Given the description of an element on the screen output the (x, y) to click on. 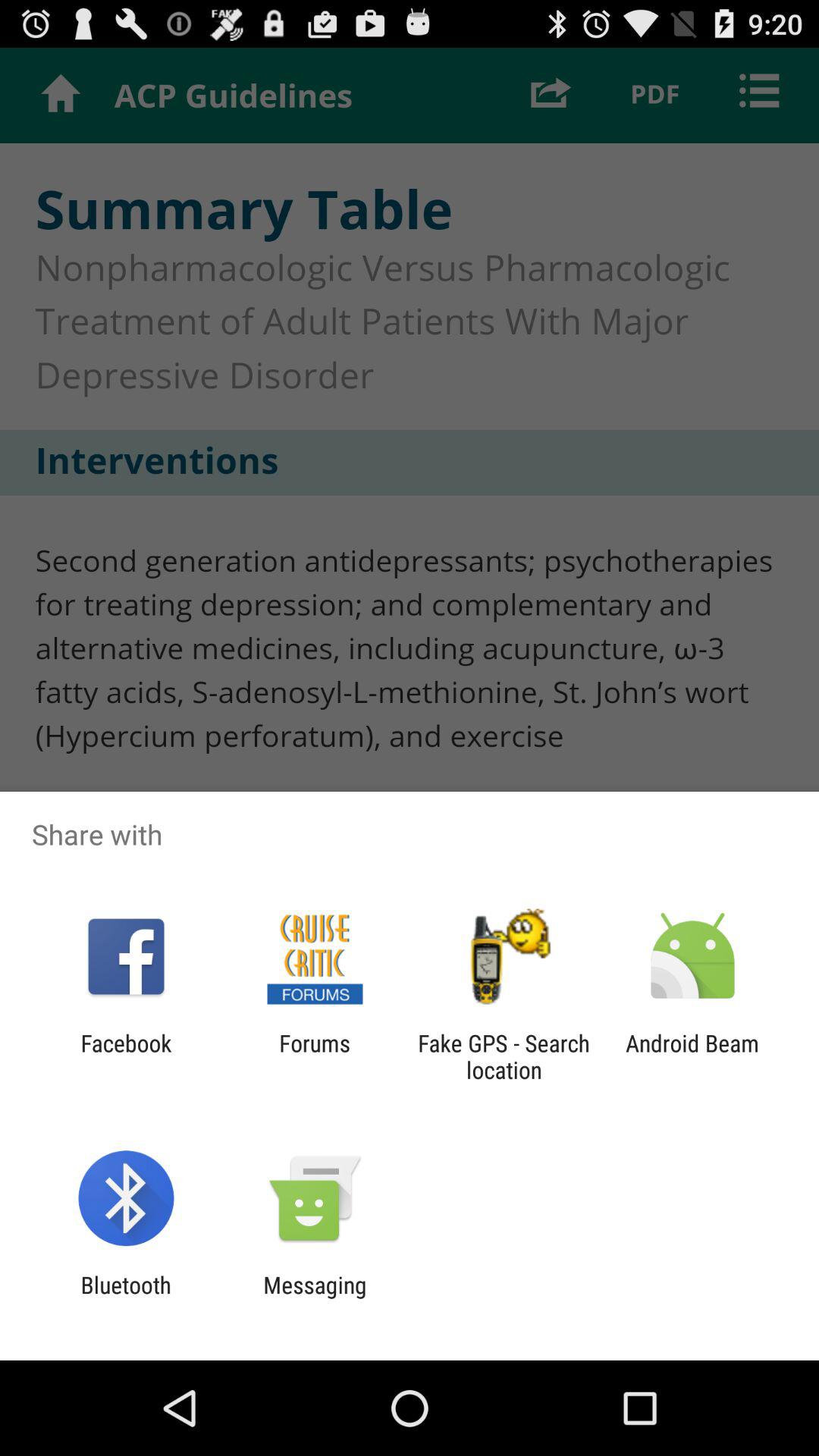
turn on app next to the facebook (314, 1056)
